Given the description of an element on the screen output the (x, y) to click on. 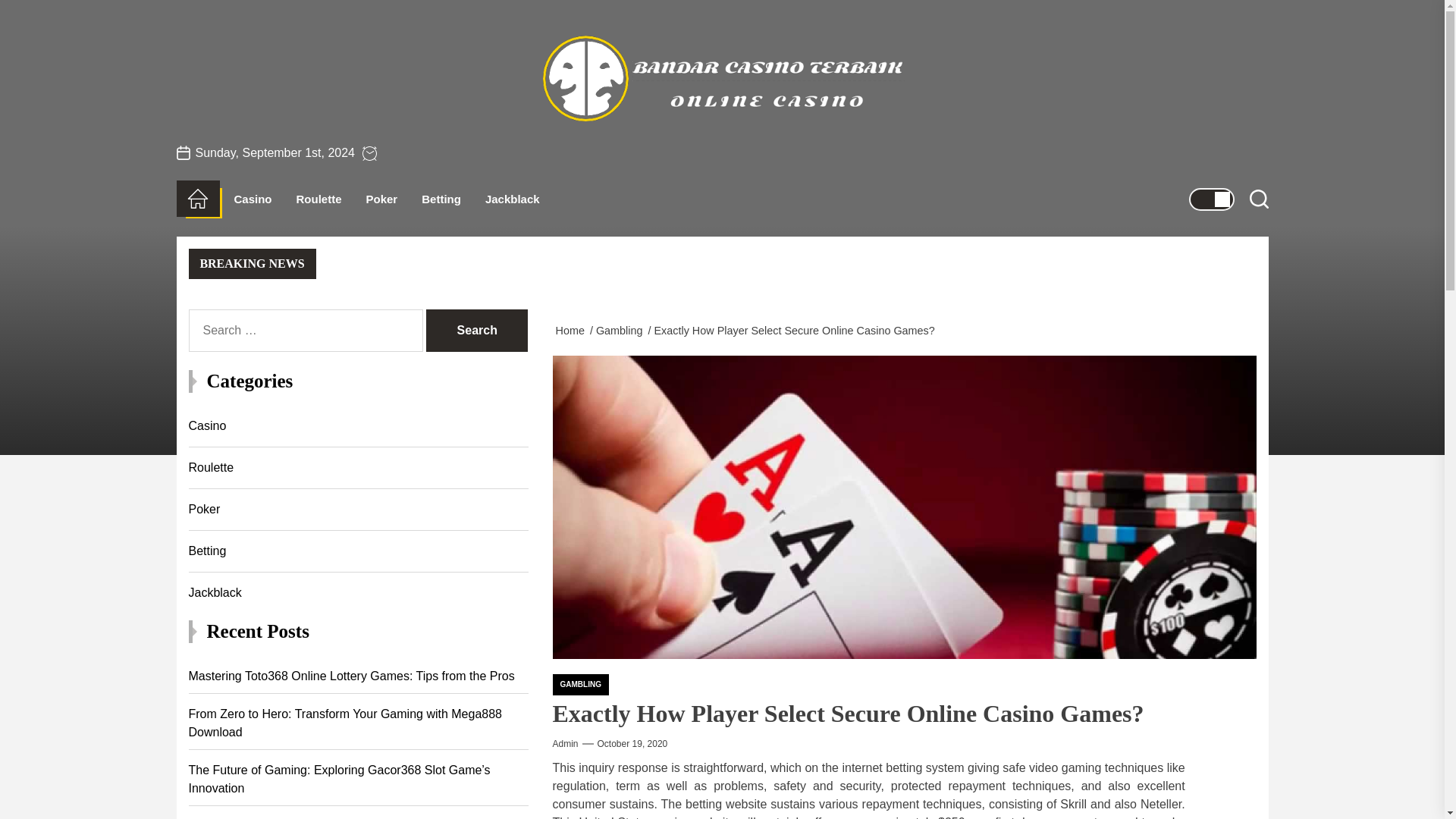
Roulette (319, 199)
Search (476, 330)
Jackblack (512, 199)
Exactly How Player Select Secure Online Casino Games? (796, 330)
Home (571, 330)
October 19, 2020 (632, 743)
Gambling (621, 330)
Poker (381, 199)
Search (476, 330)
Home (197, 198)
